Given the description of an element on the screen output the (x, y) to click on. 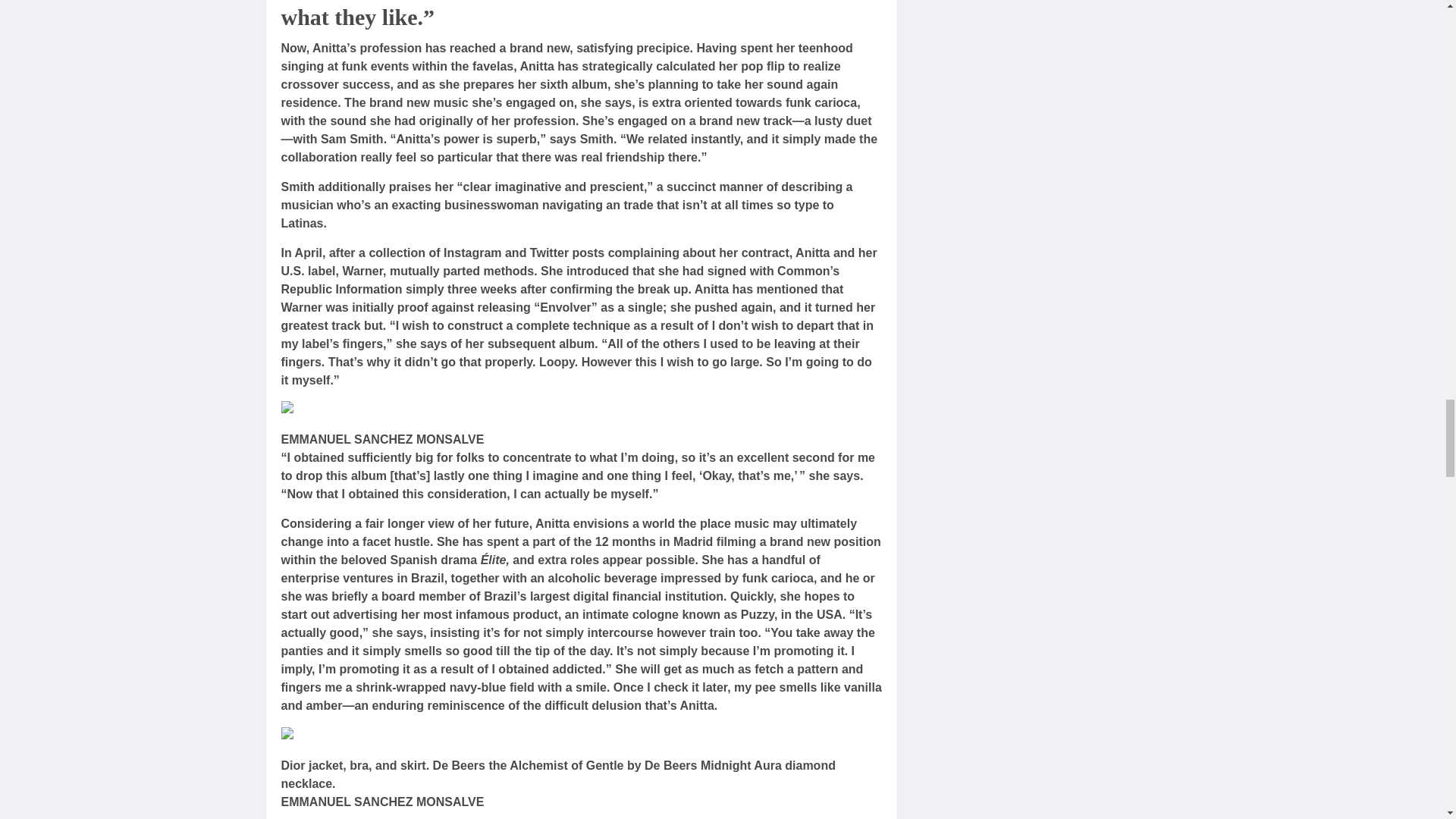
anitta june july 2023 cover (362, 736)
anitta june july 2023 cover (362, 410)
